Given the description of an element on the screen output the (x, y) to click on. 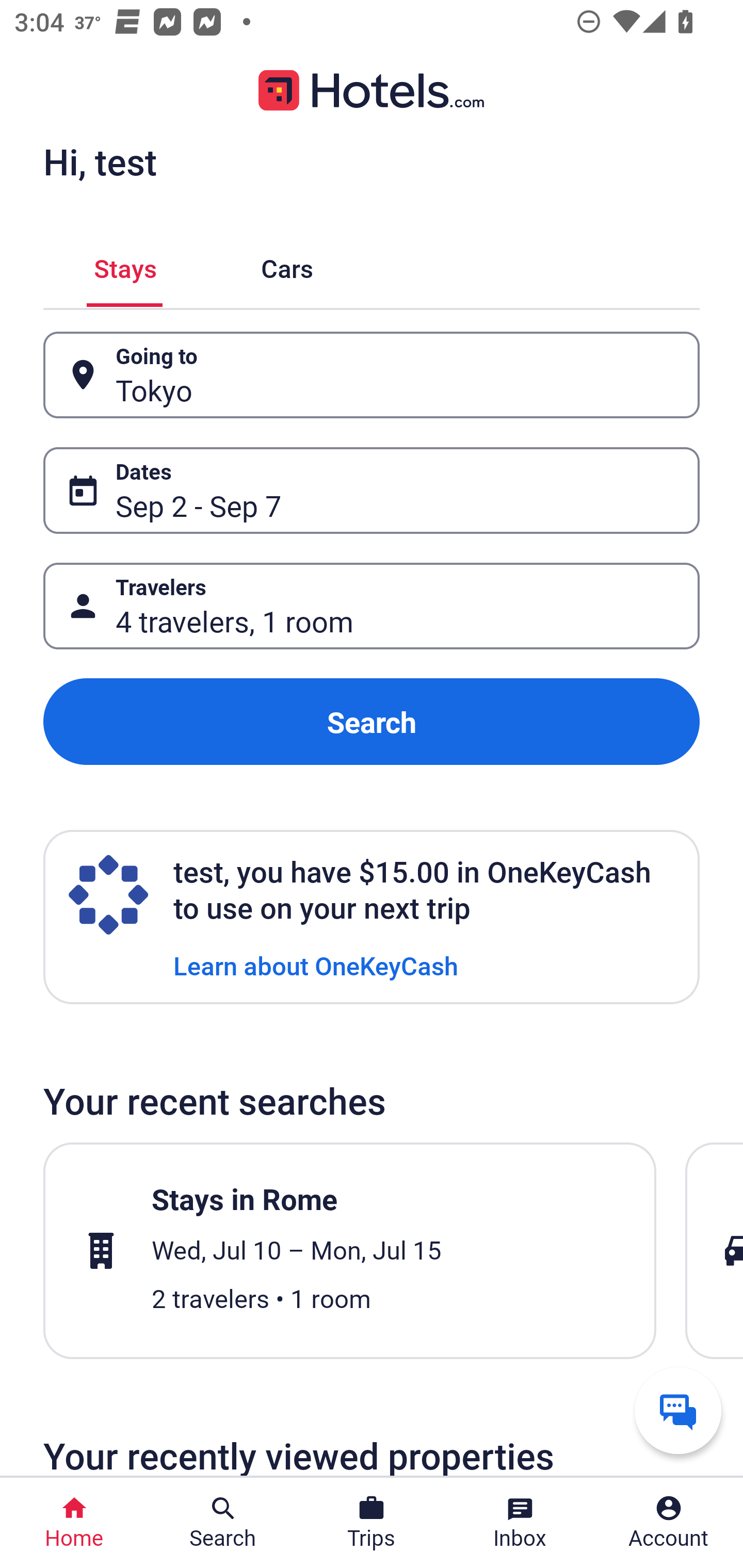
Hi, test (99, 161)
Cars (286, 265)
Going to Button Tokyo (371, 375)
Dates Button Sep 2 - Sep 7 (371, 489)
Travelers Button 4 travelers, 1 room (371, 605)
Search (371, 721)
Learn about OneKeyCash Learn about OneKeyCash Link (315, 964)
Get help from a virtual agent (677, 1410)
Search Search Button (222, 1522)
Trips Trips Button (371, 1522)
Inbox Inbox Button (519, 1522)
Account Profile. Button (668, 1522)
